Given the description of an element on the screen output the (x, y) to click on. 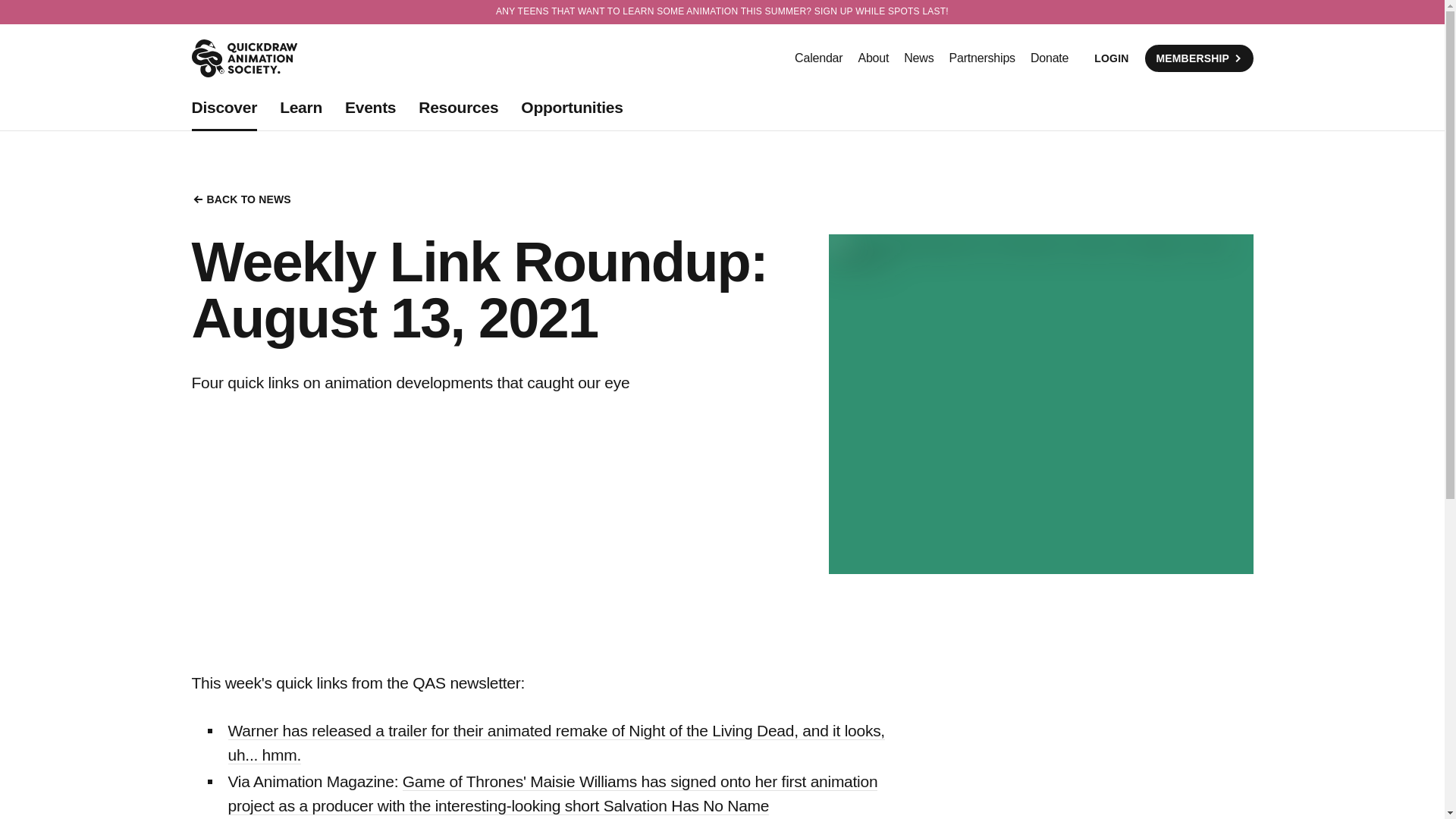
MEMBERSHIP (1198, 58)
Events (370, 107)
Donate (1049, 58)
Partnerships (981, 58)
Learn (300, 107)
About (872, 58)
Resources (458, 107)
News (918, 58)
Calendar (818, 58)
